Given the description of an element on the screen output the (x, y) to click on. 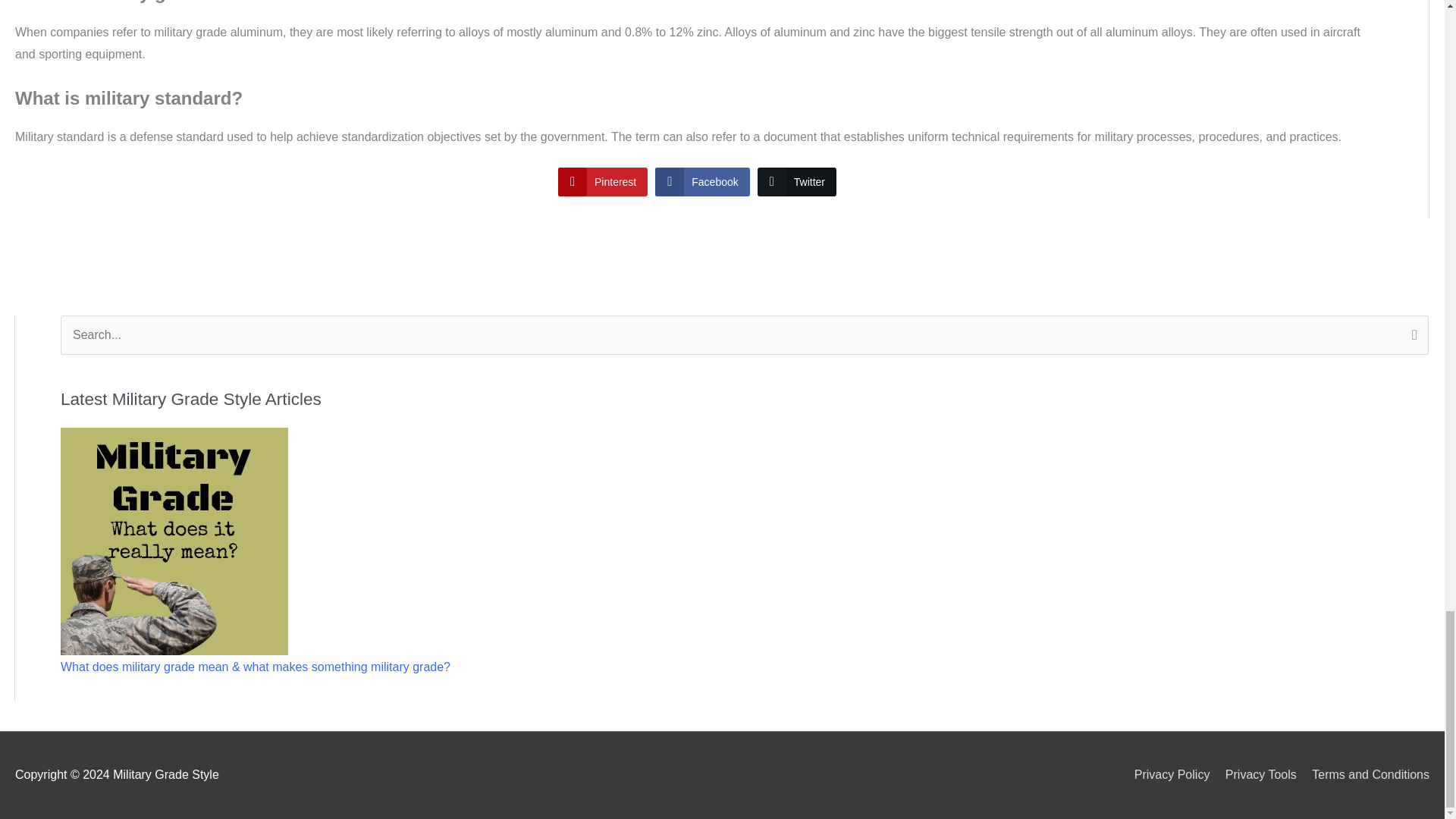
Pinterest (602, 181)
Terms and Conditions (1364, 774)
Facebook (702, 181)
Privacy Tools (1254, 774)
Twitter (796, 181)
Privacy Policy (1165, 774)
